Given the description of an element on the screen output the (x, y) to click on. 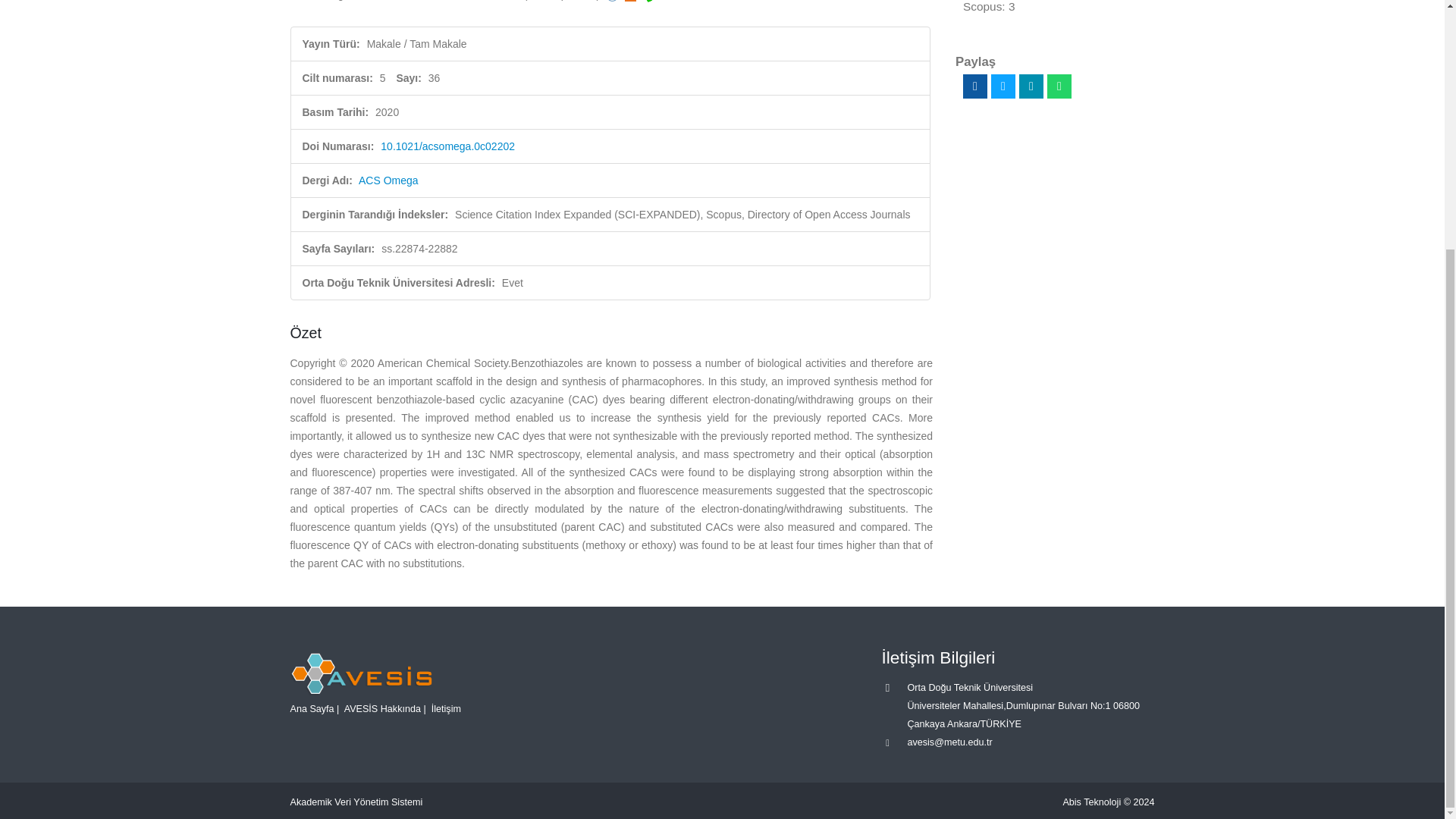
ACS Omega (388, 180)
Ana Sayfa (311, 708)
Abis Teknoloji (1091, 801)
